Given the description of an element on the screen output the (x, y) to click on. 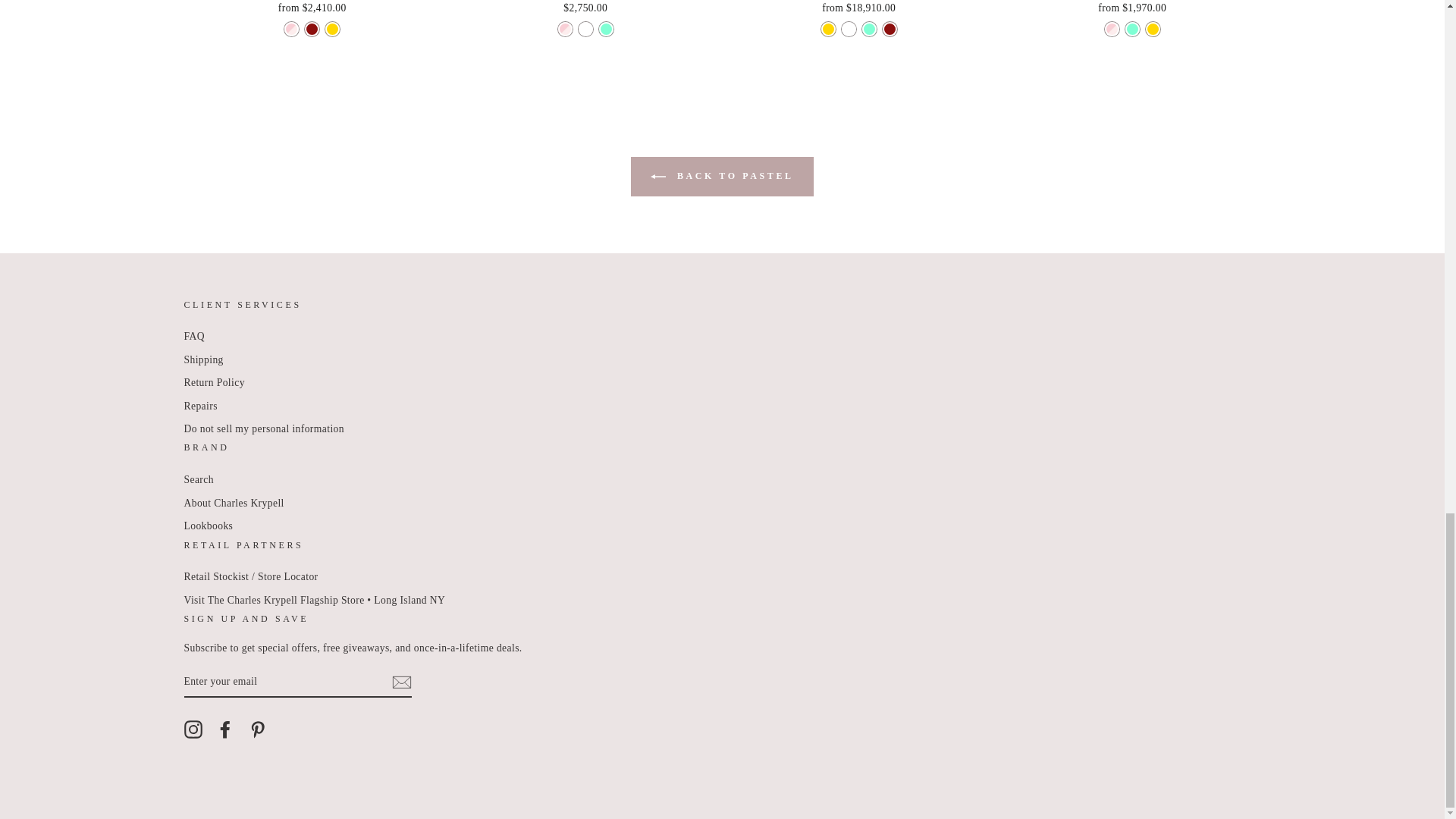
Charles Krypell Fine Jewelry on Facebook (224, 729)
Charles Krypell Fine Jewelry on Pinterest (257, 729)
Charles Krypell Fine Jewelry on Instagram (192, 729)
